Given the description of an element on the screen output the (x, y) to click on. 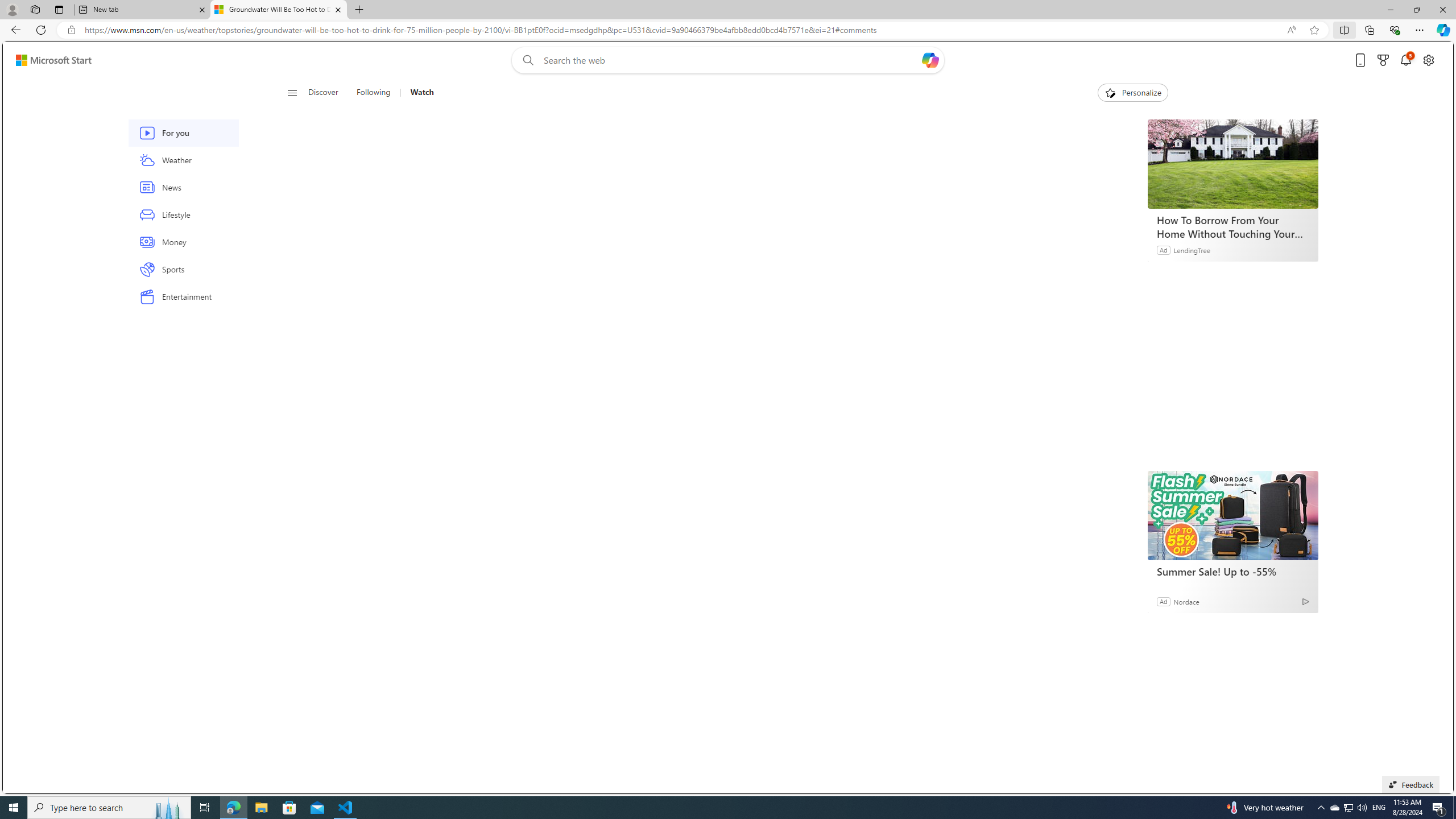
How To Borrow From Your Home Without Touching Your Mortgage (1232, 226)
